Given the description of an element on the screen output the (x, y) to click on. 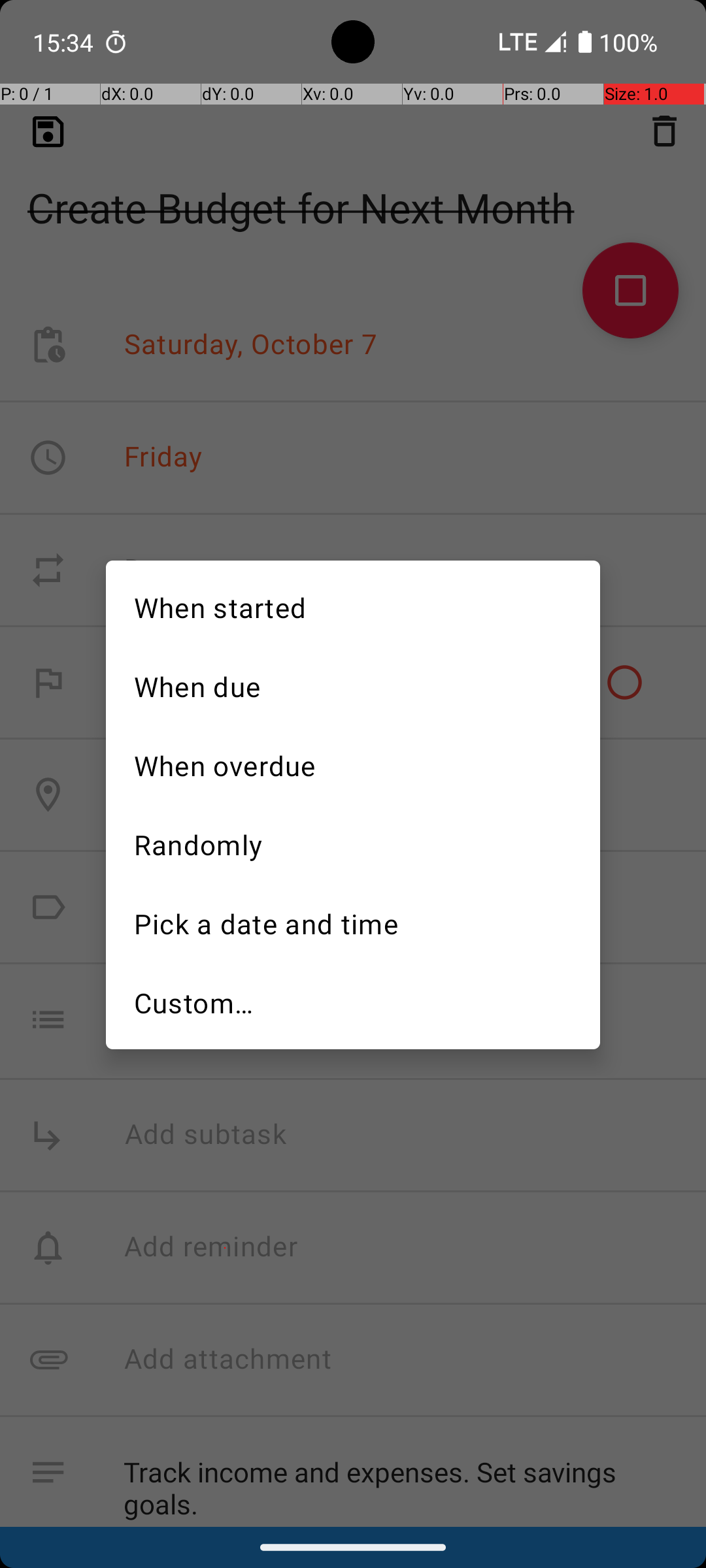
When started Element type: android.widget.TextView (352, 605)
When due Element type: android.widget.TextView (352, 684)
When overdue Element type: android.widget.TextView (352, 763)
Randomly Element type: android.widget.TextView (352, 842)
Pick a date and time Element type: android.widget.TextView (352, 921)
Custom… Element type: android.widget.TextView (352, 1002)
